Given the description of an element on the screen output the (x, y) to click on. 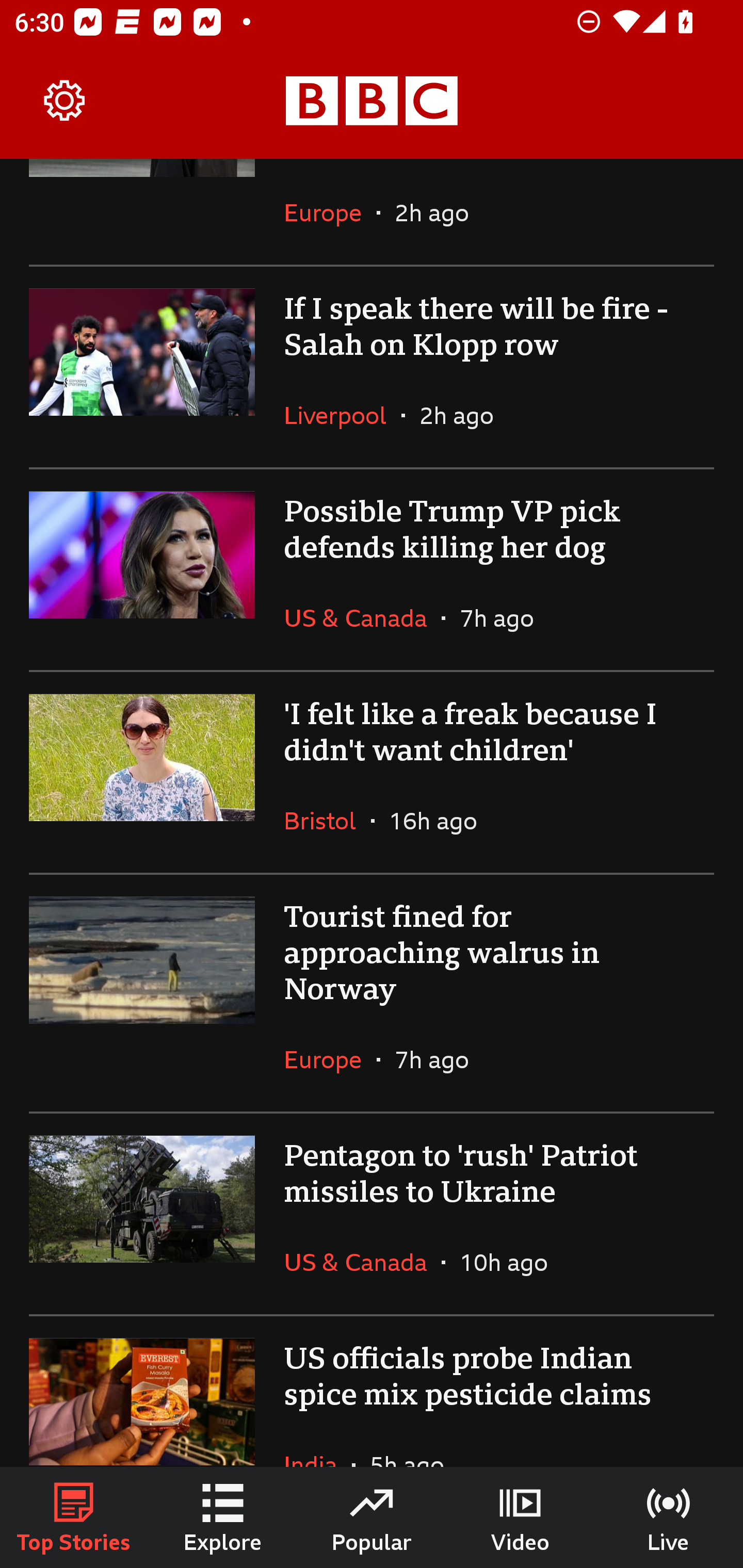
Settings (64, 100)
Europe In the section Europe (329, 211)
Liverpool In the section Liverpool (342, 415)
US & Canada In the section US & Canada (362, 617)
Bristol In the section Bristol (326, 820)
Europe In the section Europe (329, 1058)
US & Canada In the section US & Canada (362, 1261)
Explore (222, 1517)
Popular (371, 1517)
Video (519, 1517)
Live (668, 1517)
